Given the description of an element on the screen output the (x, y) to click on. 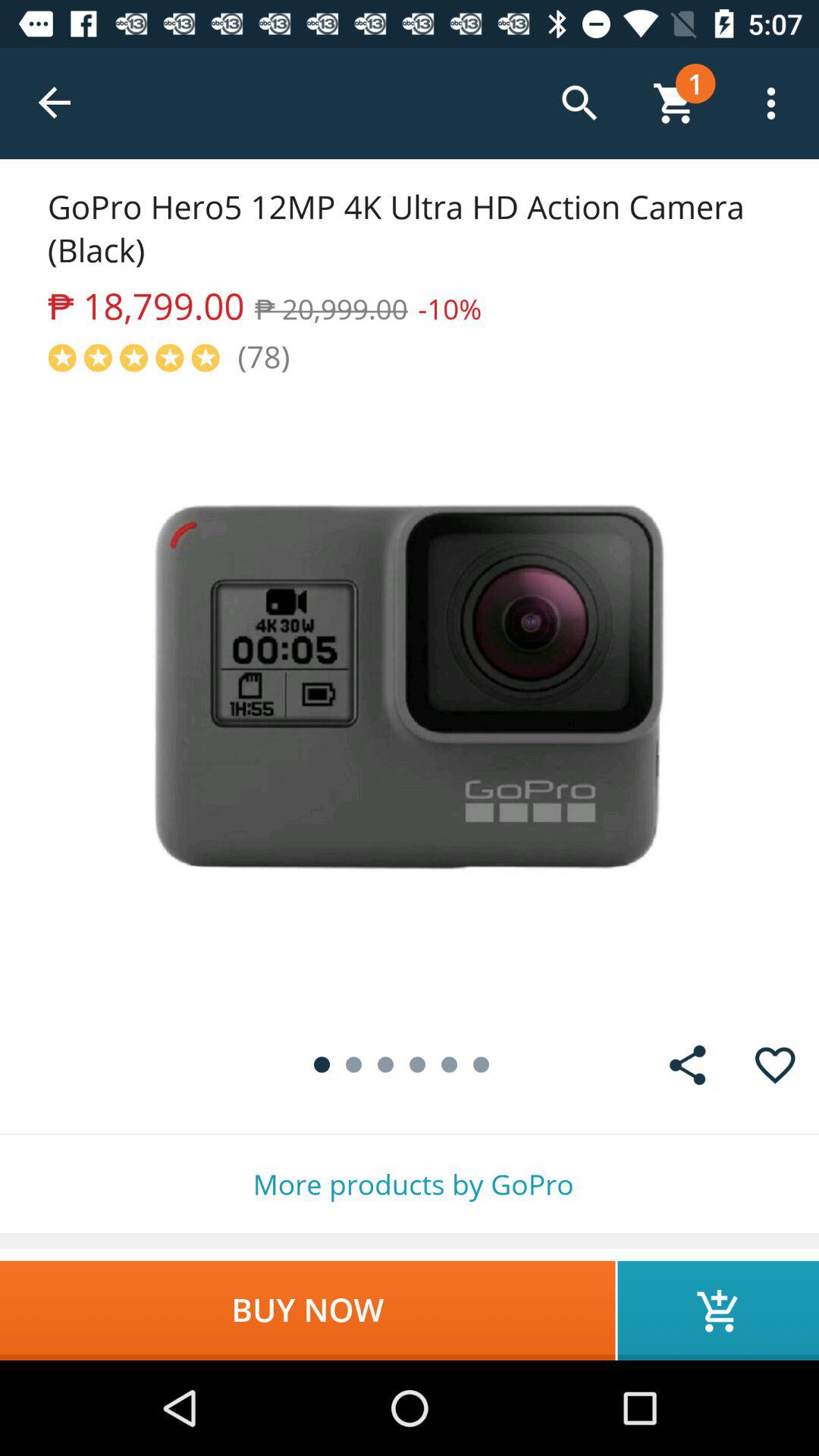
open the item above gopro hero5 12mp item (55, 103)
